Given the description of an element on the screen output the (x, y) to click on. 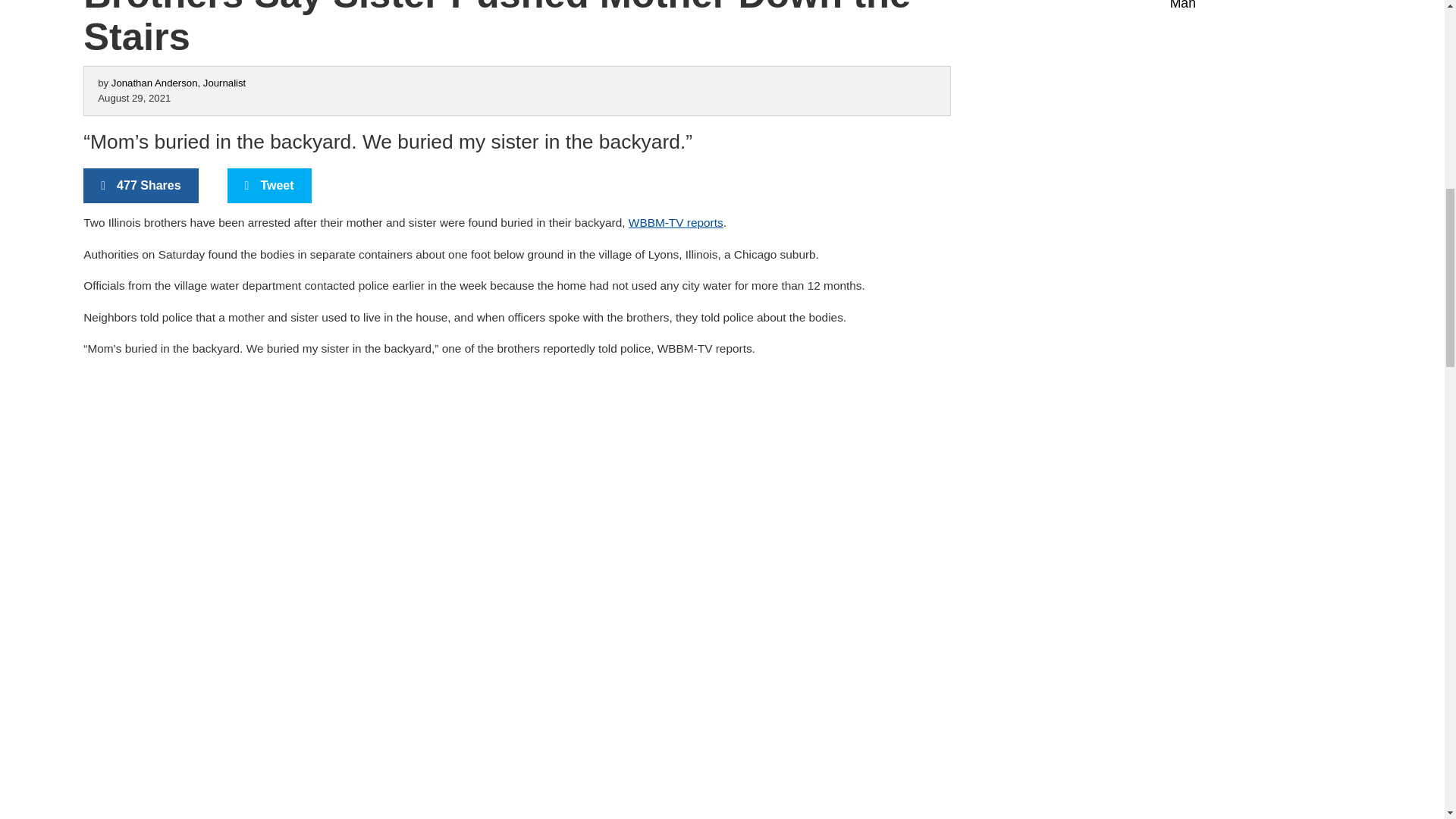
Posts by Jonathan Anderson, Journalist (179, 82)
477 Shares (140, 185)
WBBM-TV reports (675, 222)
August 29, 2021 (133, 98)
Jonathan Anderson, Journalist (179, 82)
Tweet (269, 185)
